Given the description of an element on the screen output the (x, y) to click on. 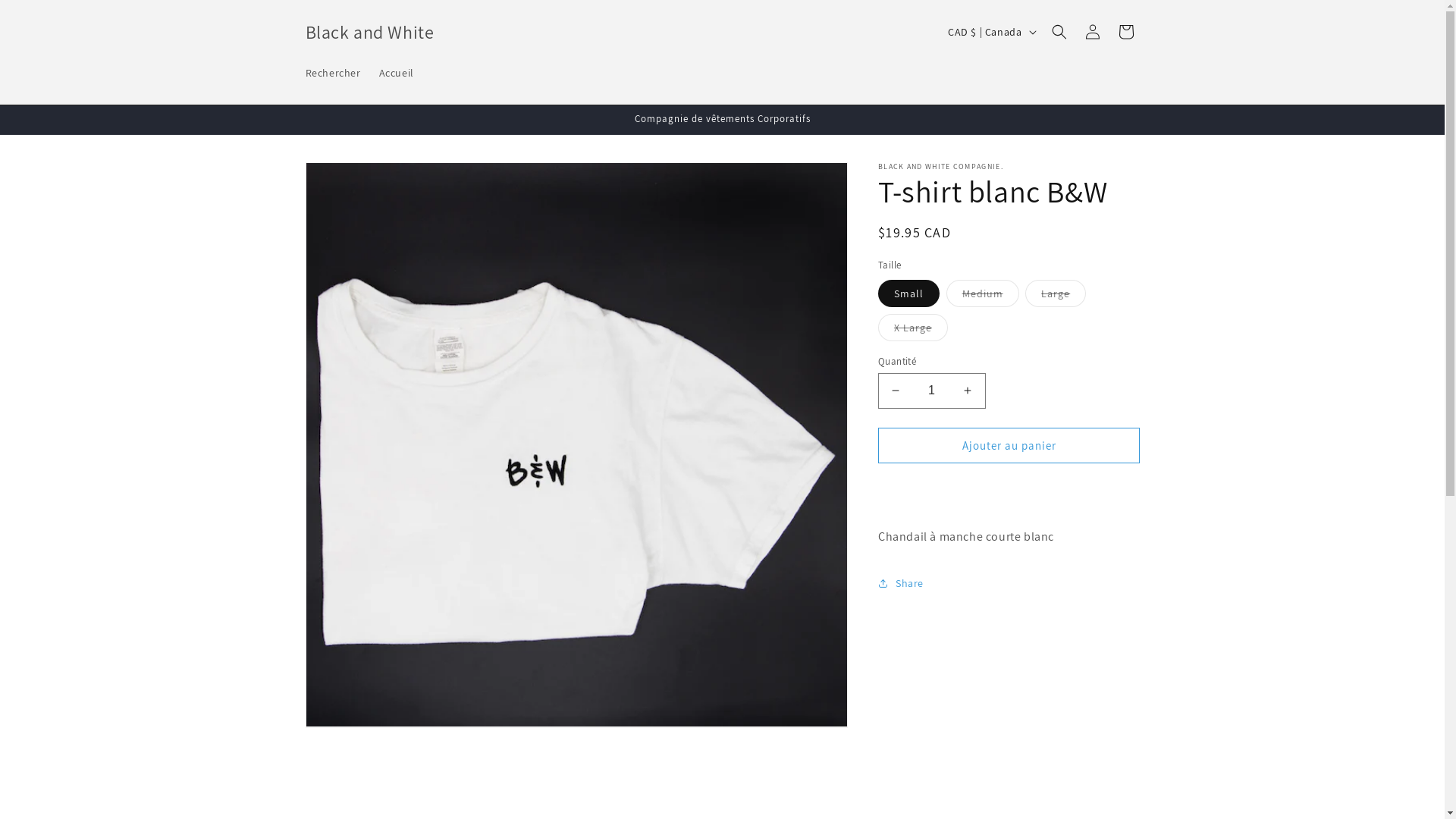
Panier Element type: text (1125, 31)
CAD $ | Canada Element type: text (989, 31)
Rechercher Element type: text (332, 71)
https://blackandwhiteshop.ca/products/t-shirt-blanc-2 Element type: text (968, 640)
Connexion Element type: text (1091, 31)
Black and White Element type: text (369, 31)
Passer aux informations produits Element type: text (350, 179)
Accueil Element type: text (396, 71)
Ajouter au panier Element type: text (1008, 445)
